Given the description of an element on the screen output the (x, y) to click on. 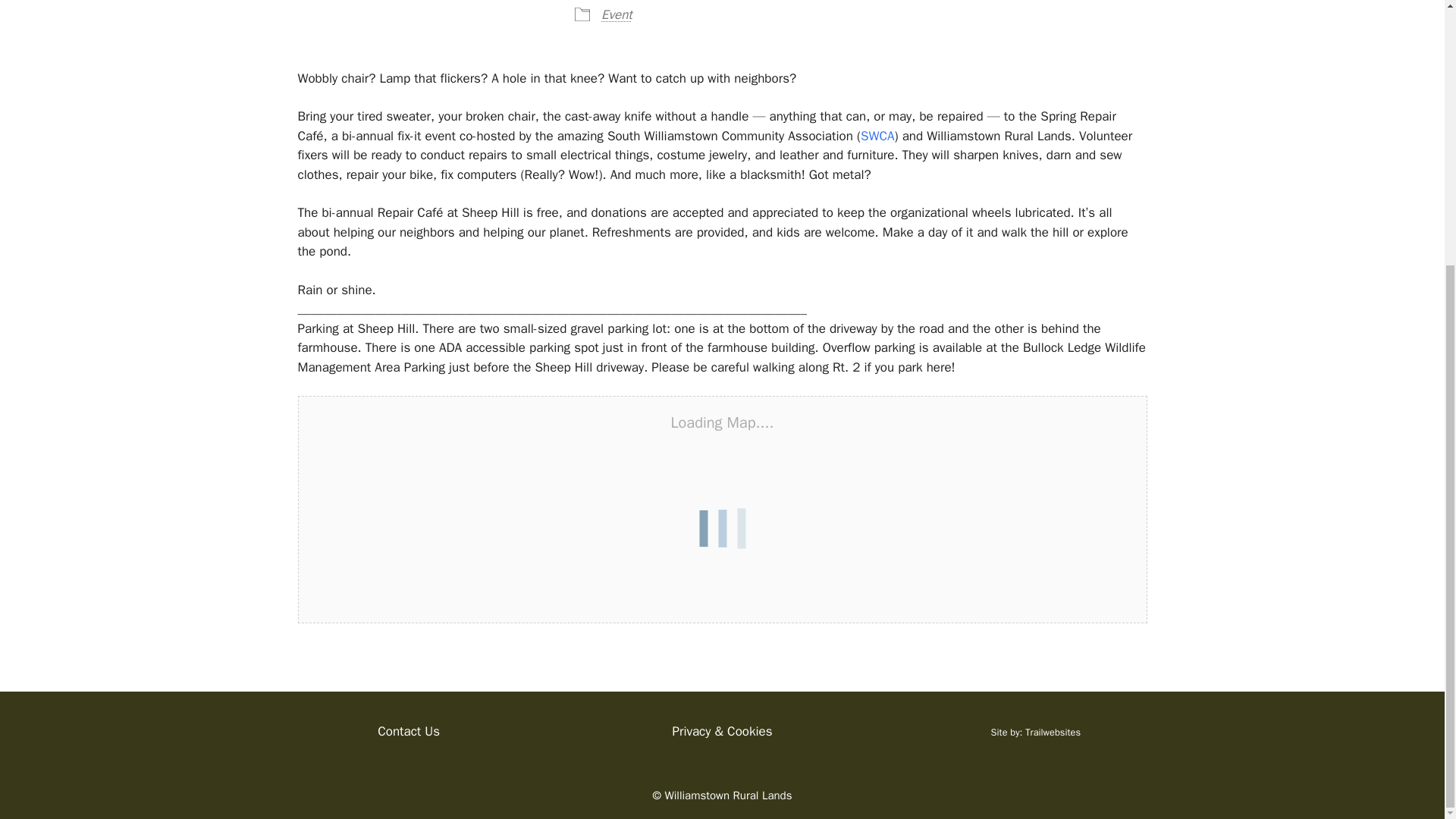
Download ICS (370, 1)
